Given the description of an element on the screen output the (x, y) to click on. 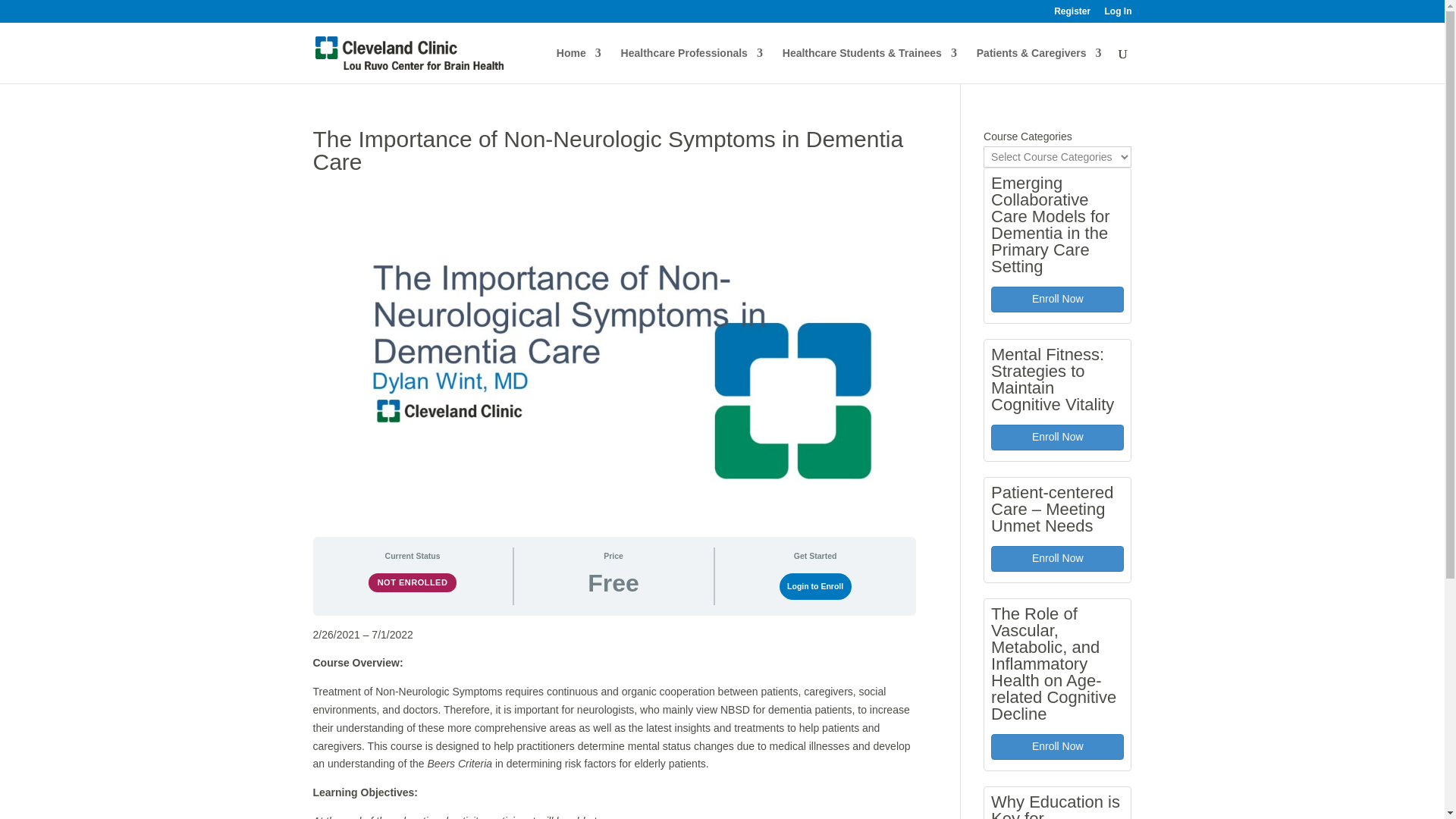
Log In (1117, 14)
Enroll Now (1057, 746)
Register (1072, 14)
Enroll Now (1057, 558)
Healthcare Professionals (691, 65)
Home (578, 65)
Login to Enroll (814, 585)
Enroll Now (1057, 299)
Enroll Now (1057, 437)
